Given the description of an element on the screen output the (x, y) to click on. 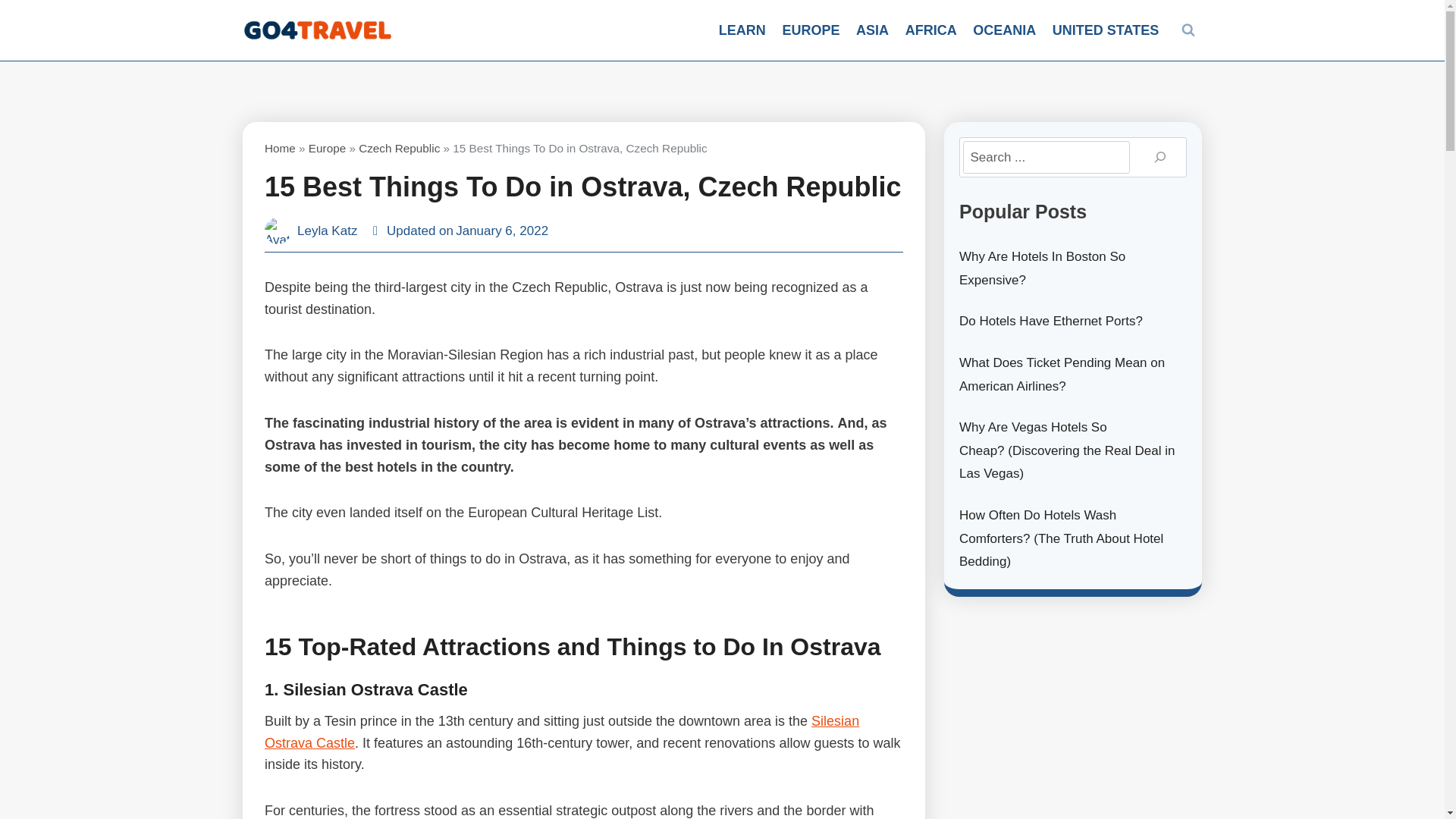
AFRICA (930, 30)
LEARN (742, 30)
Silesian Ostrava Castle (561, 732)
Czech Republic (398, 147)
OCEANIA (1003, 30)
UNITED STATES (1105, 30)
Home (279, 147)
Europe (327, 147)
EUROPE (811, 30)
Leyla Katz (326, 230)
